Given the description of an element on the screen output the (x, y) to click on. 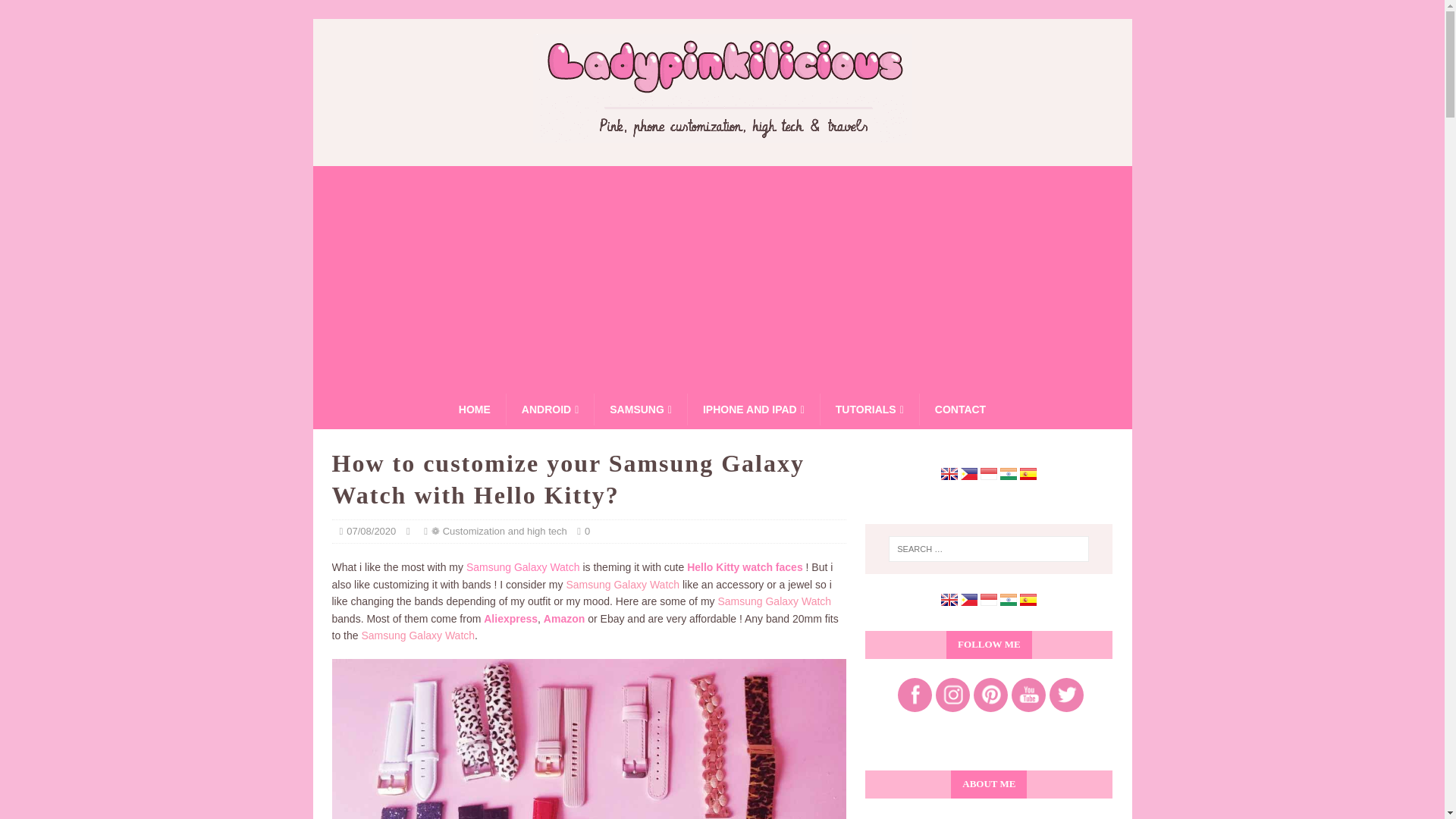
Twitter (1066, 694)
Instagram (952, 694)
Facebook (914, 694)
YouTube (1028, 694)
ANDROID (549, 409)
SAMSUNG (640, 409)
HOME (474, 409)
